Given the description of an element on the screen output the (x, y) to click on. 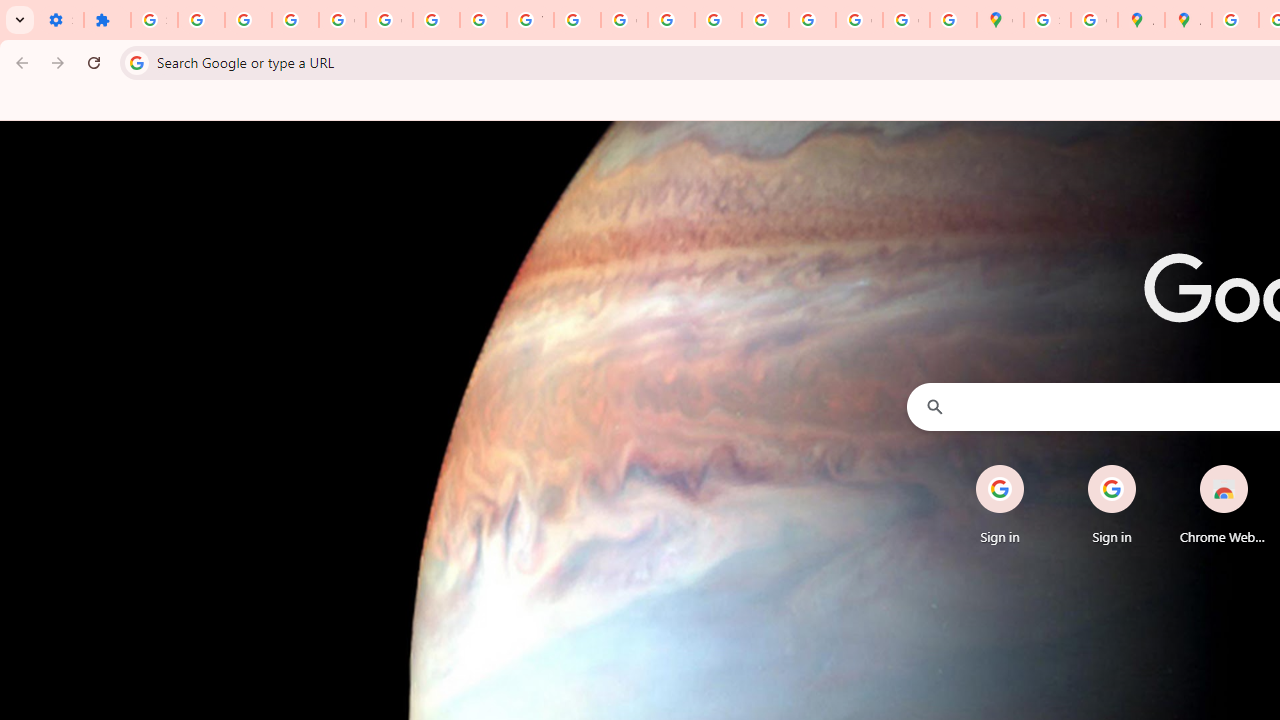
Learn how to find your photos - Google Photos Help (248, 20)
YouTube (530, 20)
Google Account Help (342, 20)
